Given the description of an element on the screen output the (x, y) to click on. 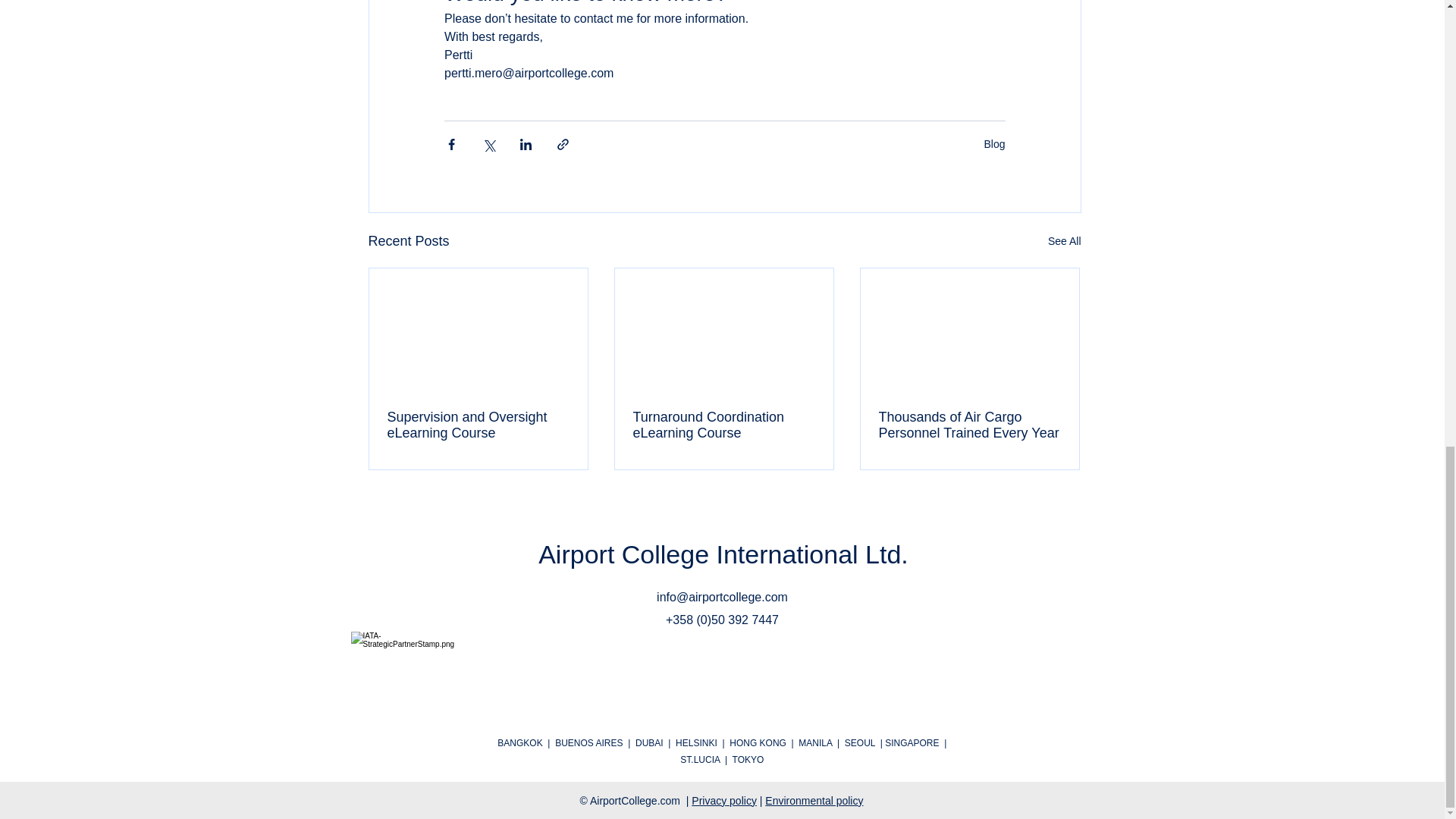
Airport College International Ltd. (723, 553)
Supervision and Oversight eLearning Course (478, 425)
Thousands of Air Cargo Personnel Trained Every Year (968, 425)
See All (1064, 241)
Blog (994, 143)
Privacy policy (724, 800)
Environmental policy (814, 800)
Turnaround Coordination eLearning Course (722, 425)
